Given the description of an element on the screen output the (x, y) to click on. 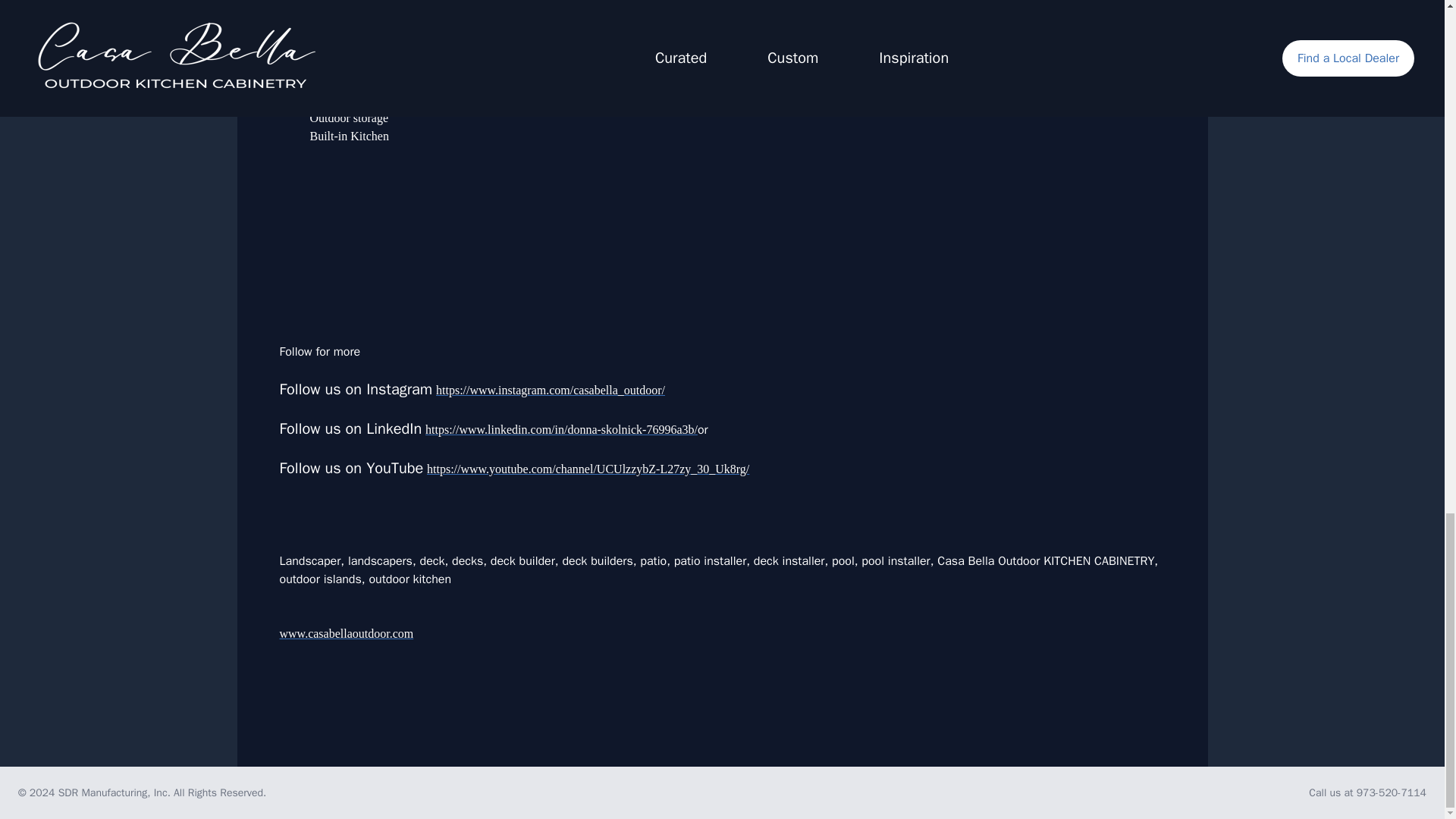
www.casabellaoutdoor.com (346, 633)
